Given the description of an element on the screen output the (x, y) to click on. 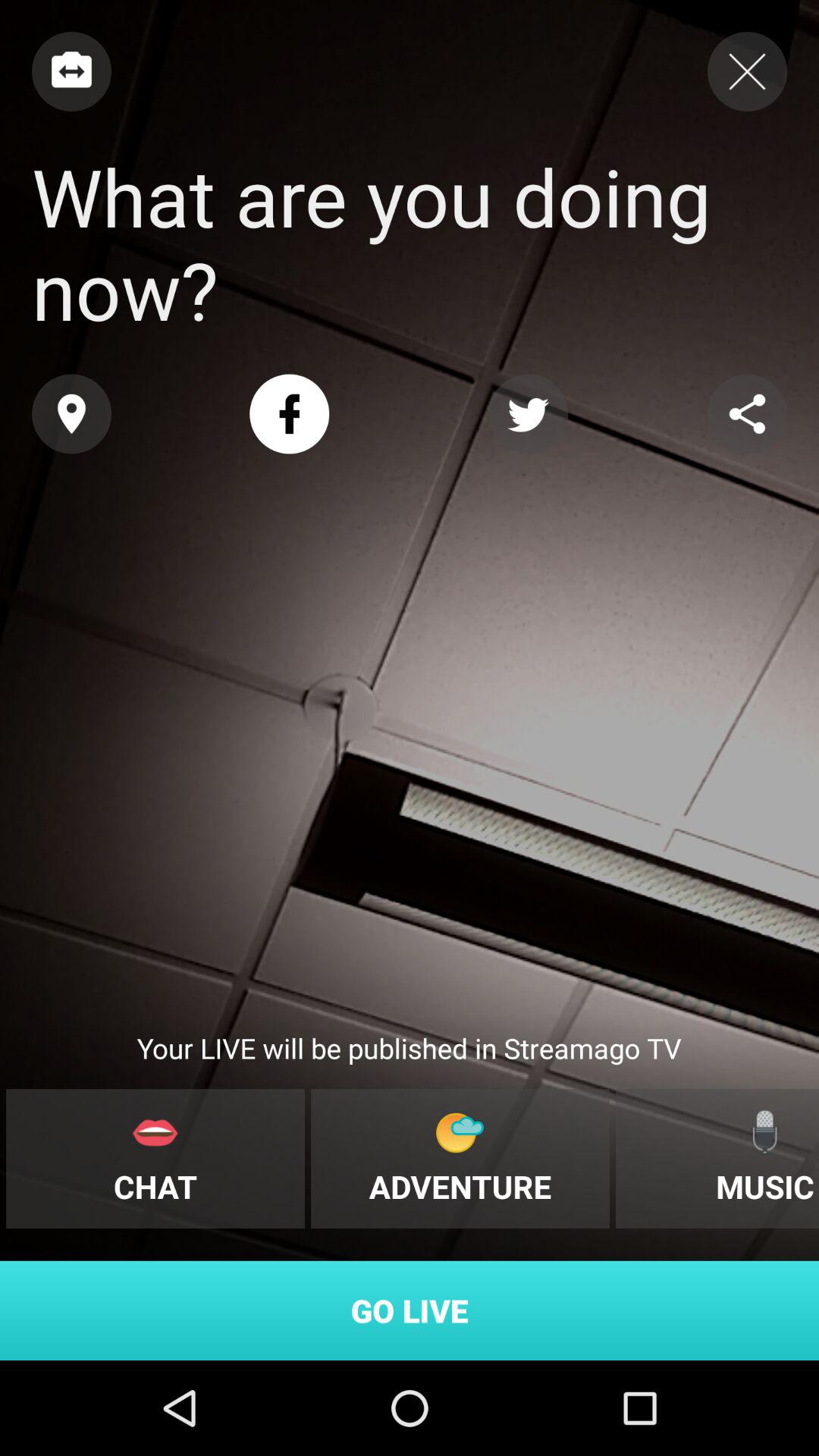
share to facebook (289, 413)
